Given the description of an element on the screen output the (x, y) to click on. 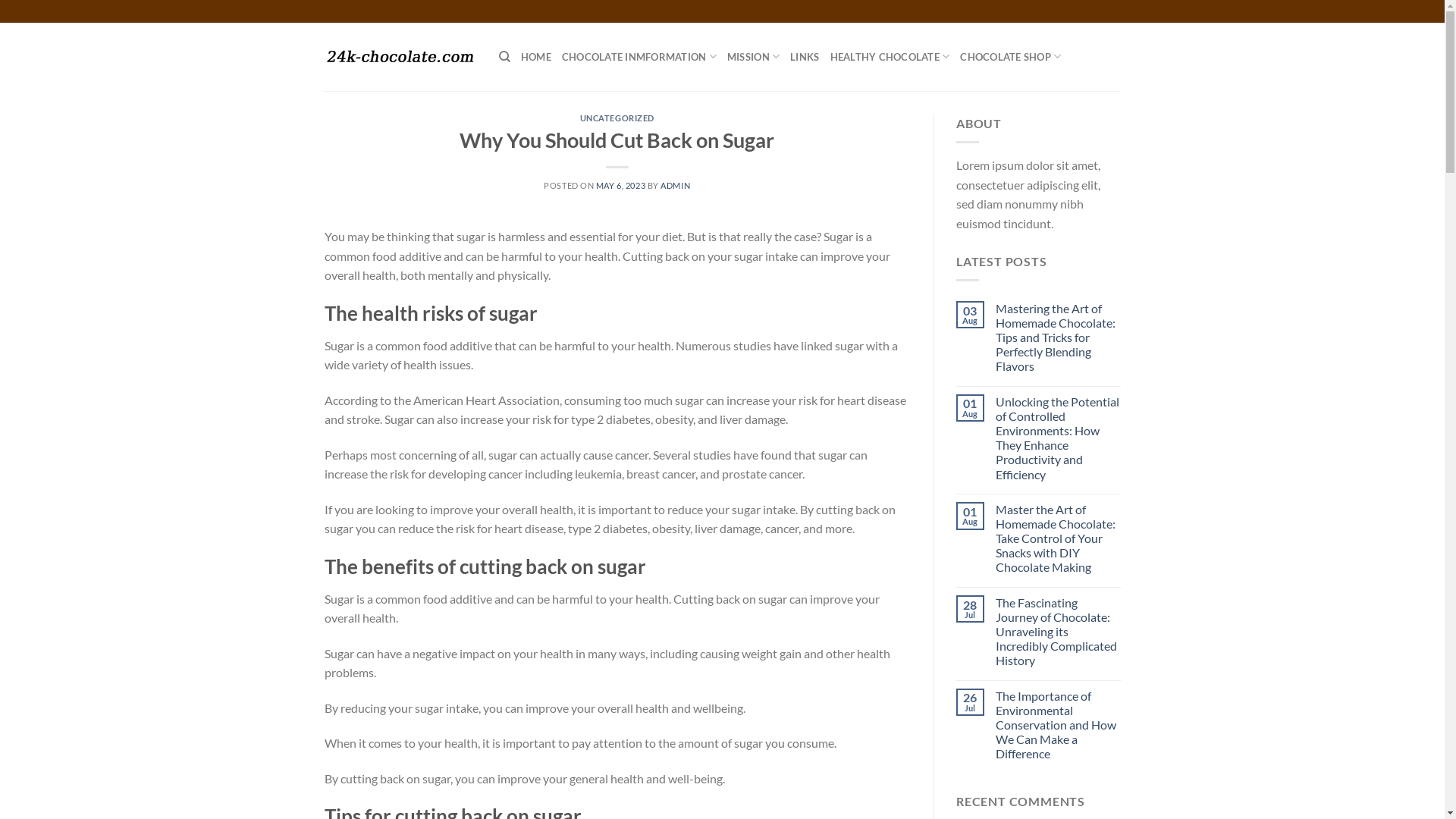
LINKS Element type: text (804, 56)
HEALTHY CHOCOLATE Element type: text (890, 56)
HOME Element type: text (535, 56)
MAY 6, 2023 Element type: text (620, 185)
ADMIN Element type: text (675, 185)
CHOCOLATE SHOP Element type: text (1010, 56)
UNCATEGORIZED Element type: text (617, 117)
MISSION Element type: text (753, 56)
CHOCOLATE INMFORMATION Element type: text (638, 56)
